Given the description of an element on the screen output the (x, y) to click on. 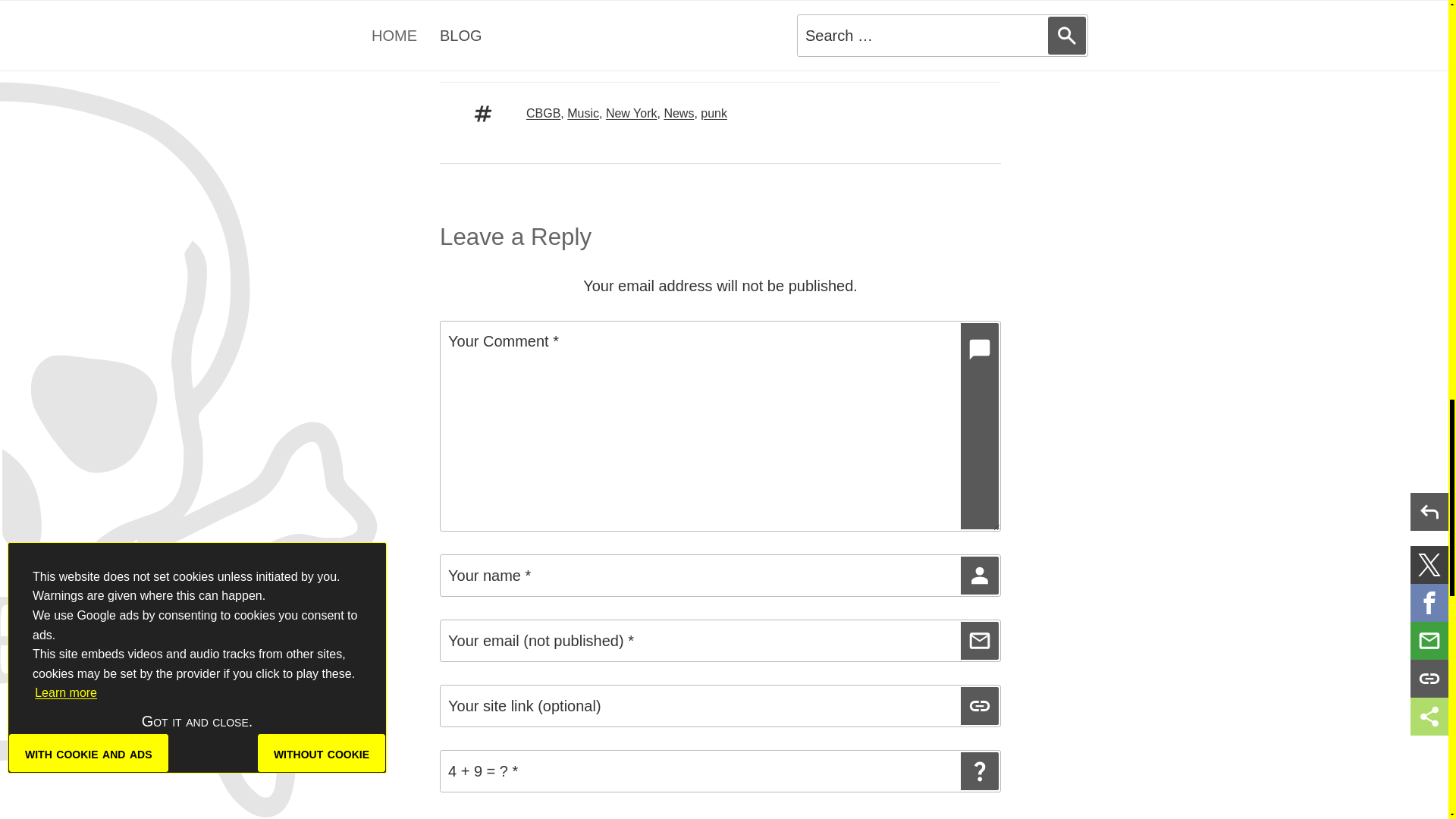
New York (631, 113)
News (678, 113)
CBGB (542, 113)
Music (582, 113)
Music (541, 50)
punk (713, 113)
News (579, 50)
